Given the description of an element on the screen output the (x, y) to click on. 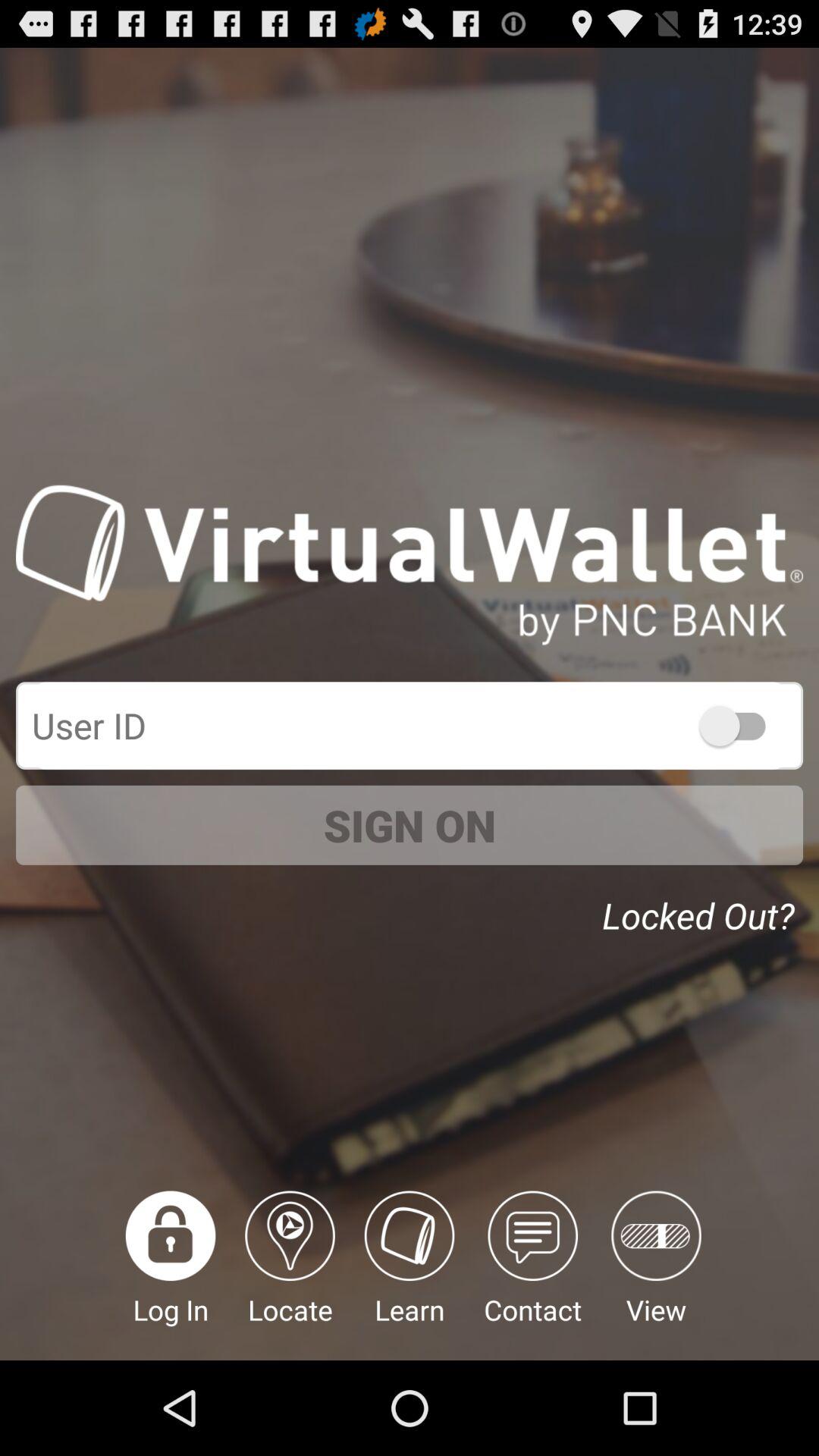
press the item below the sign on icon (289, 1275)
